Given the description of an element on the screen output the (x, y) to click on. 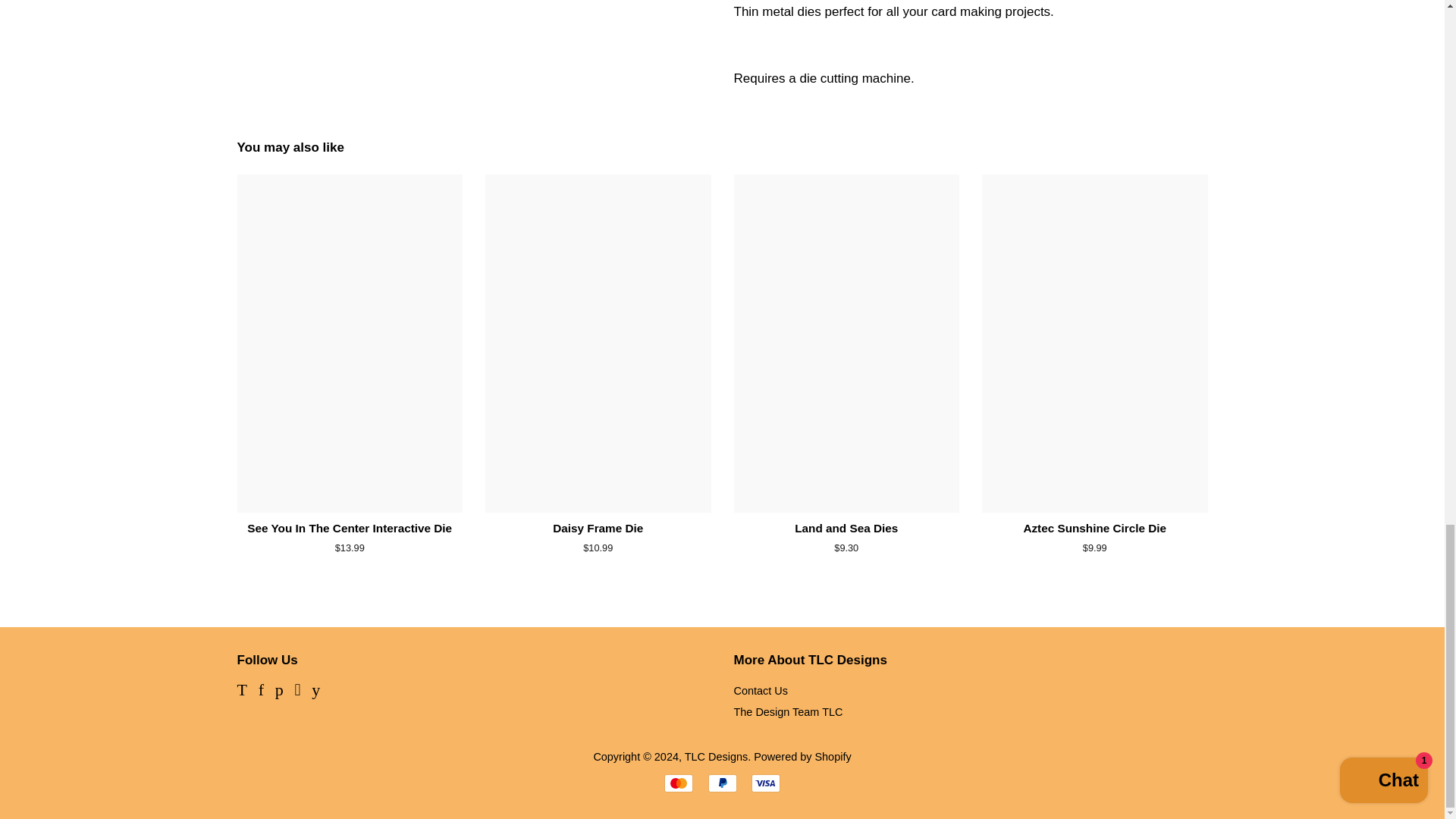
Mastercard (678, 782)
TLC Designs on Instagram (296, 691)
TLC Designs on YouTube (315, 691)
TLC Designs on Twitter (240, 691)
PayPal (721, 782)
Visa (765, 782)
TLC Designs on Facebook (261, 691)
TLC Designs on Pinterest (279, 691)
